Given the description of an element on the screen output the (x, y) to click on. 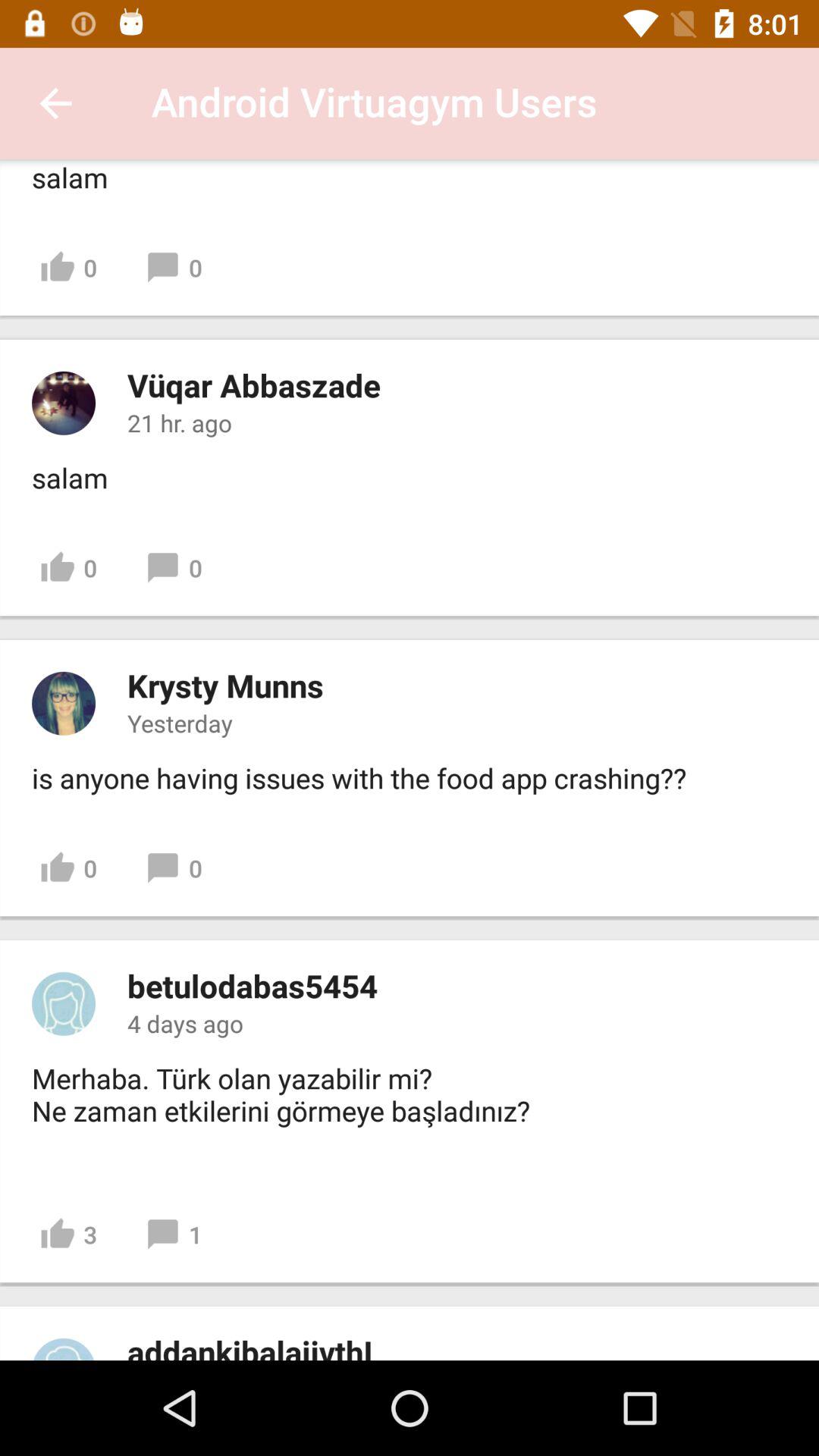
select item below the 0 (252, 985)
